Given the description of an element on the screen output the (x, y) to click on. 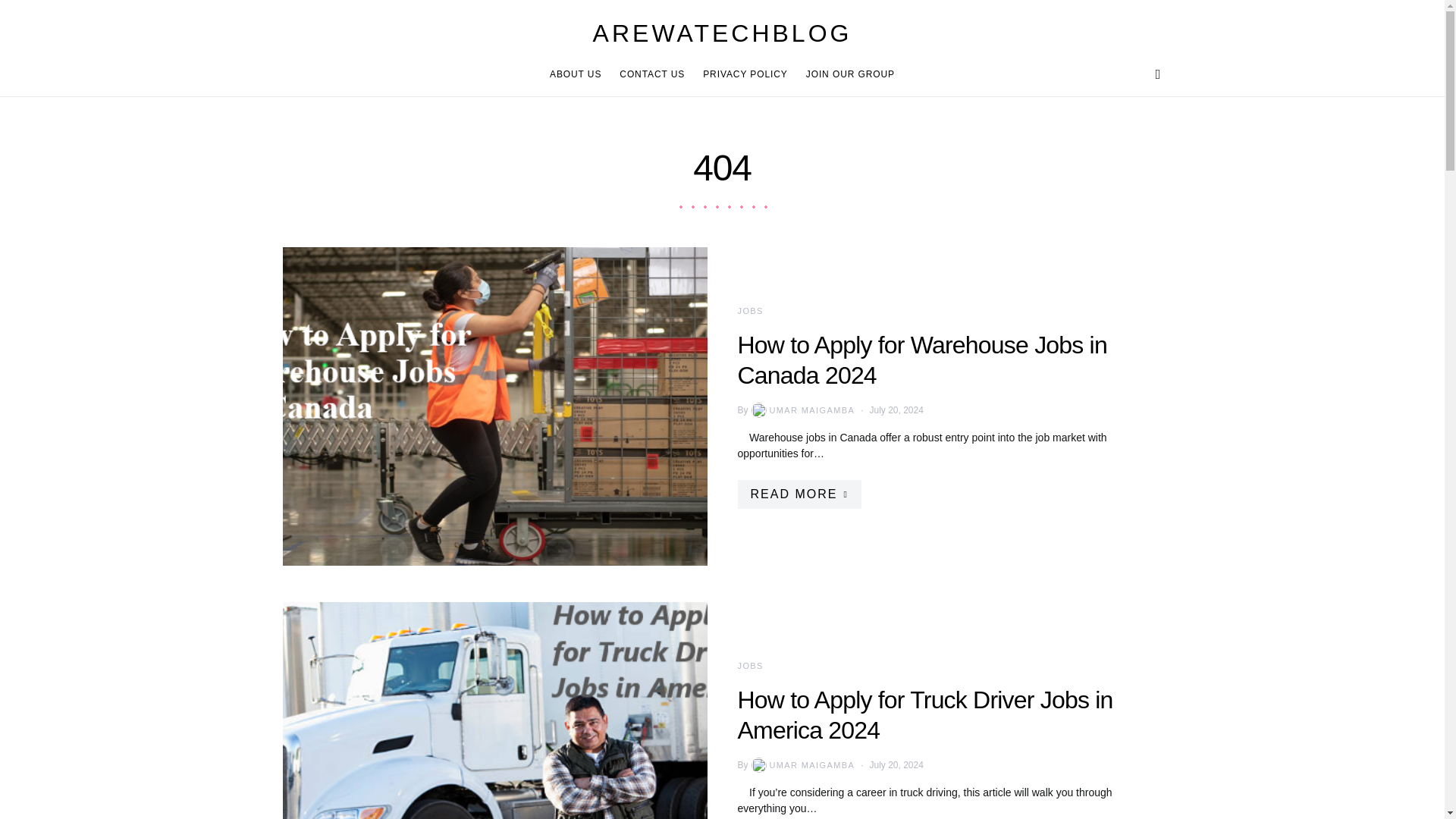
View all posts by Umar Maigamba (802, 409)
JOIN OUR GROUP (845, 74)
UMAR MAIGAMBA (802, 765)
PRIVACY POLICY (745, 74)
CONTACT US (652, 74)
ABOUT US (580, 74)
READ MORE (798, 493)
AREWATECHBLOG (721, 33)
How to Apply for Warehouse Jobs in Canada 2024 (921, 360)
JOBS (749, 665)
